Given the description of an element on the screen output the (x, y) to click on. 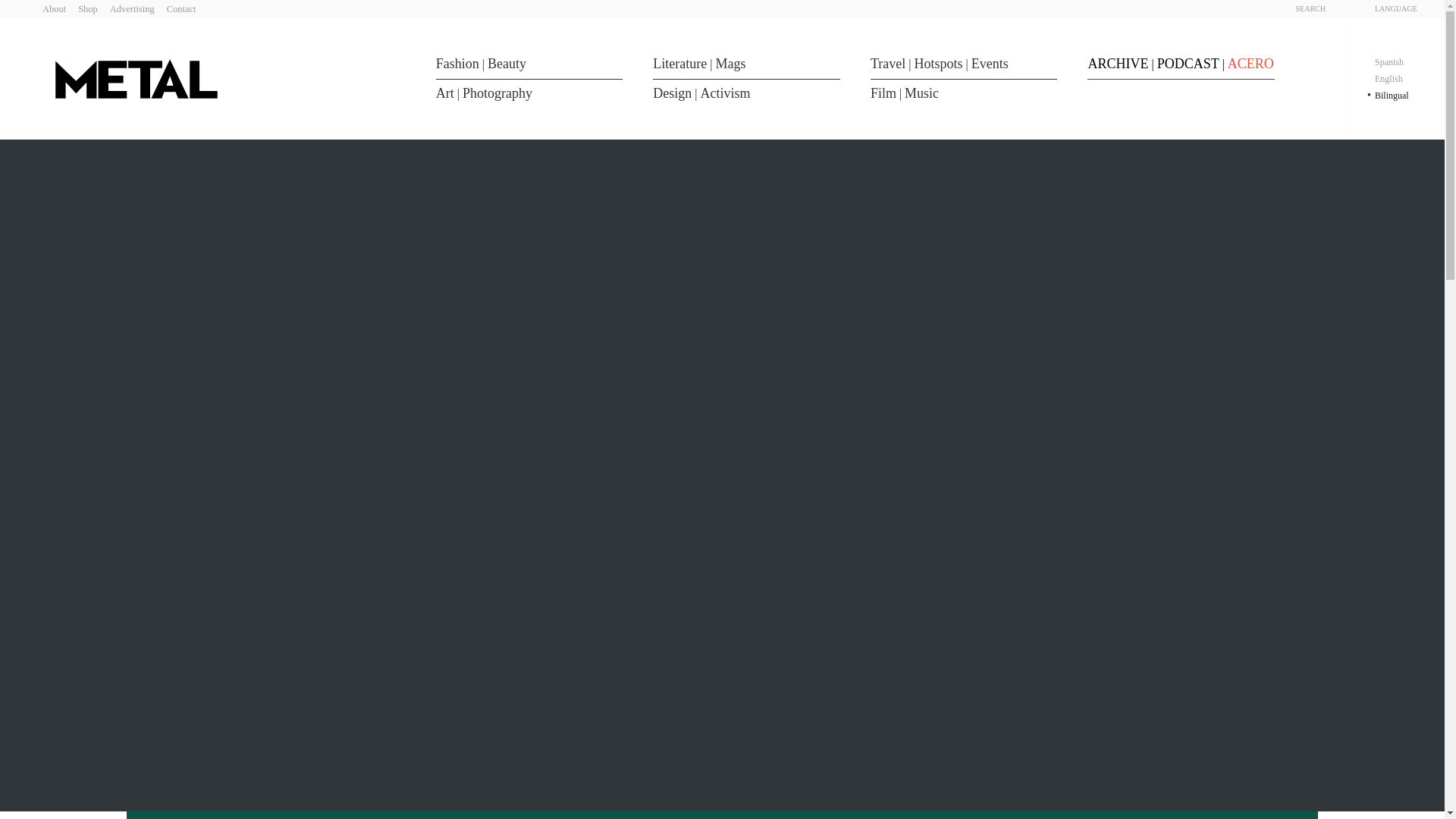
Film (883, 93)
Fashion (457, 64)
ARCHIVE (1117, 64)
Literature (679, 64)
Photography (497, 93)
Bilingual (1391, 95)
Events (990, 64)
Contact (181, 9)
About (53, 9)
Hotspots (938, 64)
Beauty (506, 64)
ACERO (1250, 64)
Travel (887, 64)
Mags (730, 64)
PODCAST (1188, 64)
